Given the description of an element on the screen output the (x, y) to click on. 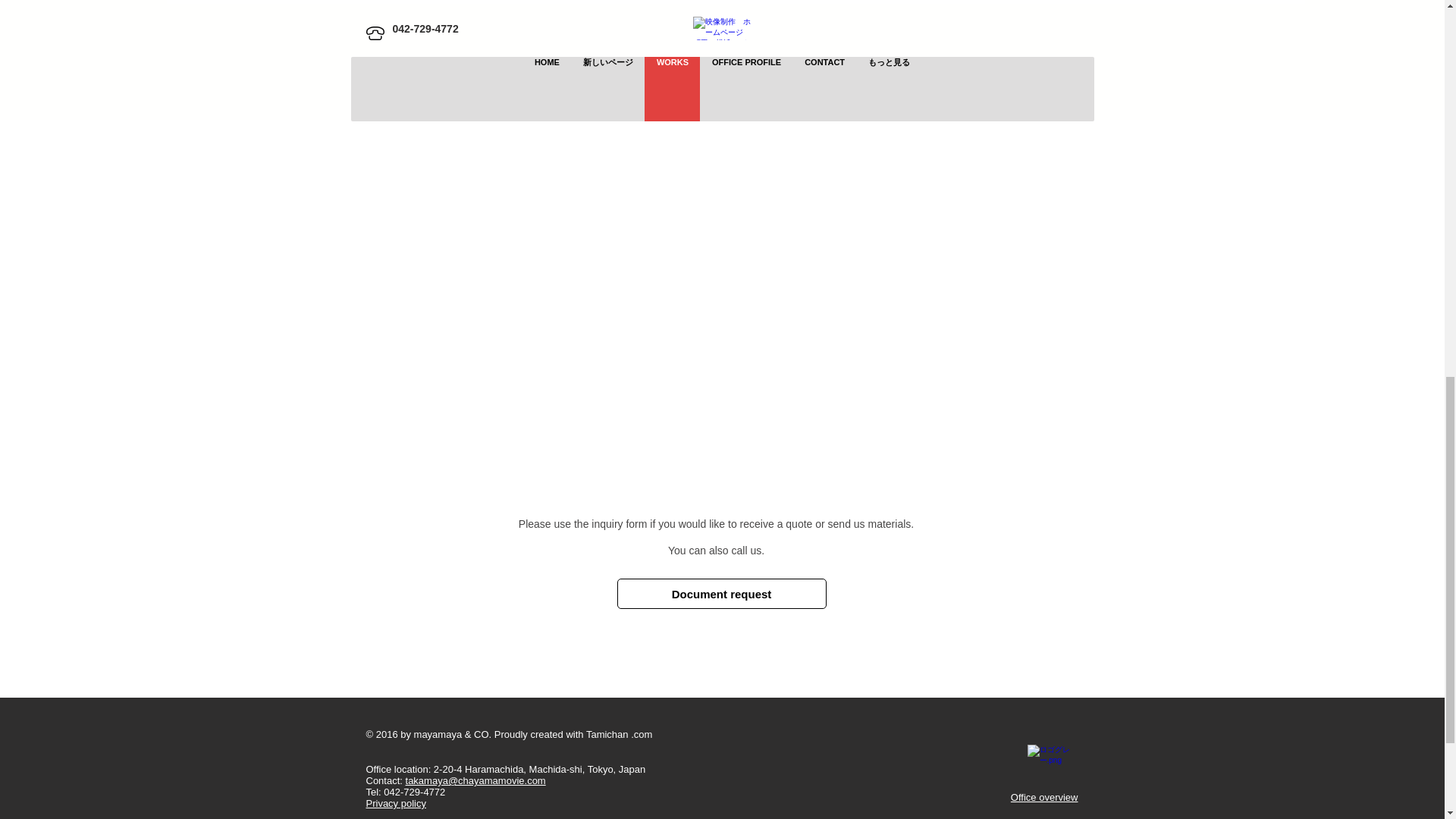
Office overview (1044, 797)
Document request (722, 593)
Privacy policy (395, 803)
.com (641, 734)
